Given the description of an element on the screen output the (x, y) to click on. 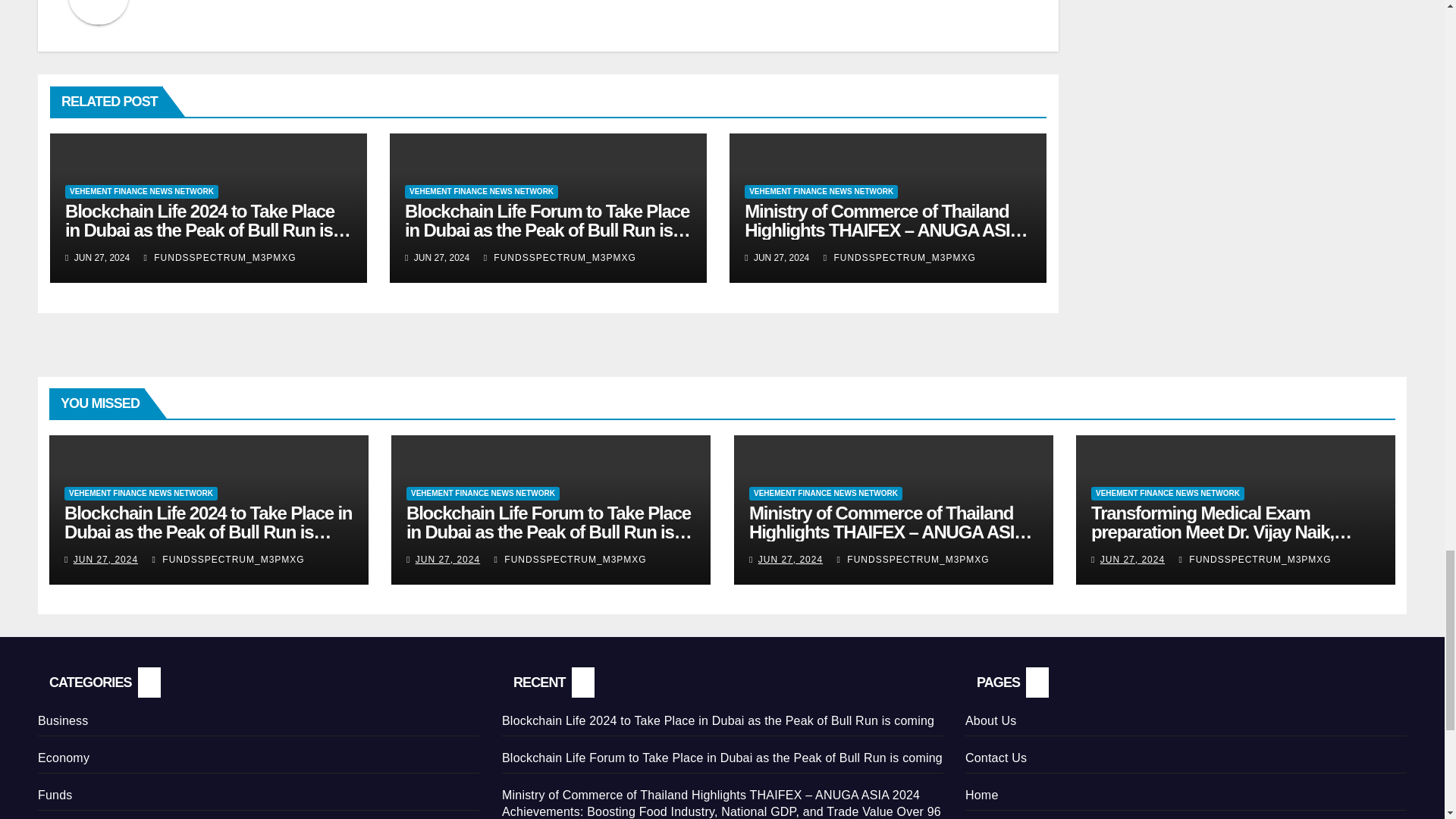
VEHEMENT FINANCE NEWS NETWORK (480, 192)
VEHEMENT FINANCE NEWS NETWORK (821, 192)
VEHEMENT FINANCE NEWS NETWORK (141, 192)
